Given the description of an element on the screen output the (x, y) to click on. 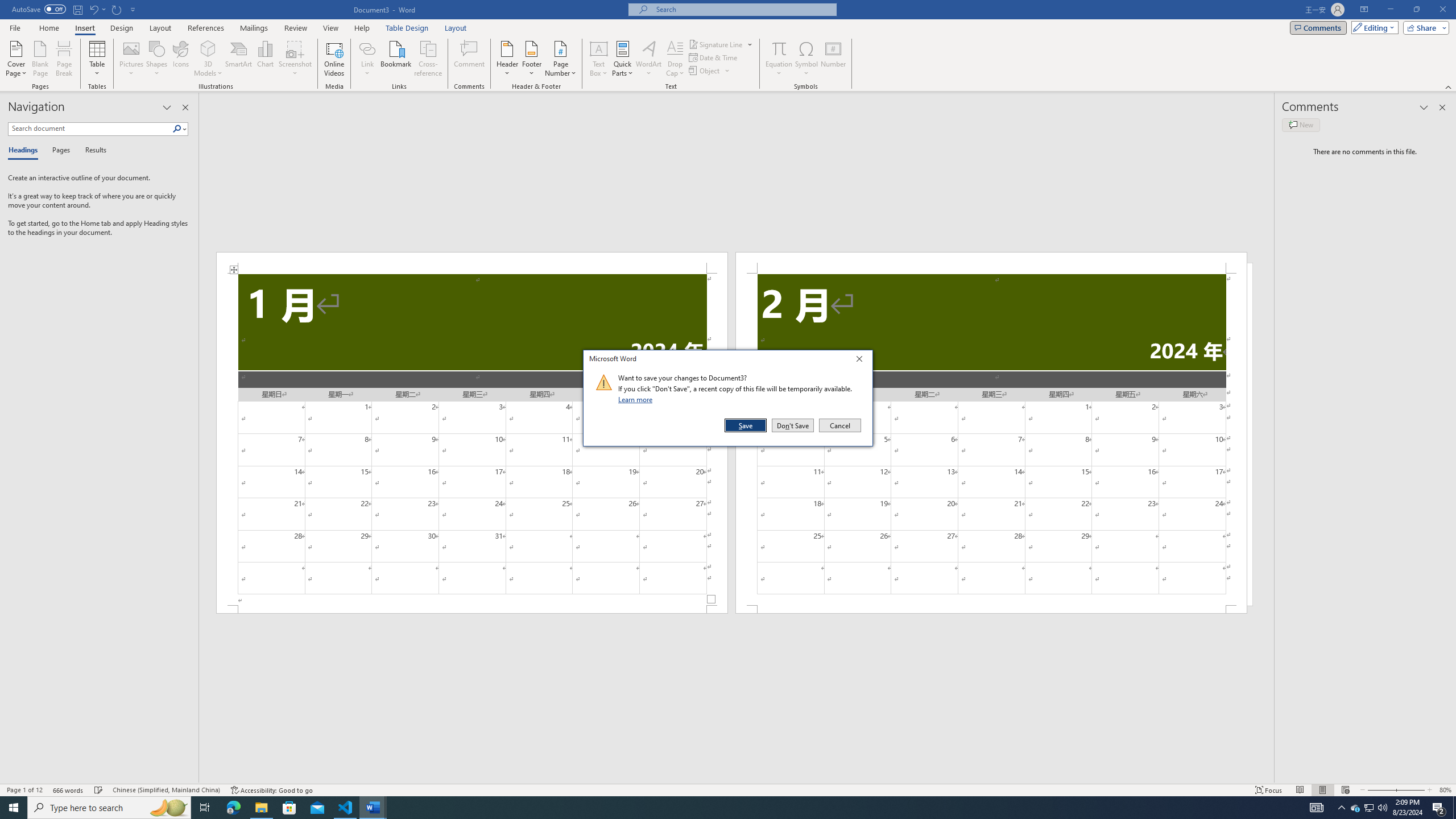
Type here to search (108, 807)
Footer -Section 2- (991, 609)
Shapes (156, 58)
Comment (469, 58)
WordArt (648, 58)
Quick Parts (622, 58)
AutomationID: 4105 (1316, 807)
Text Box (598, 58)
Home (48, 28)
System (6, 6)
Page Number Page 1 of 12 (24, 790)
Visual Studio Code - 1 running window (345, 807)
Drop Cap (674, 58)
